Given the description of an element on the screen output the (x, y) to click on. 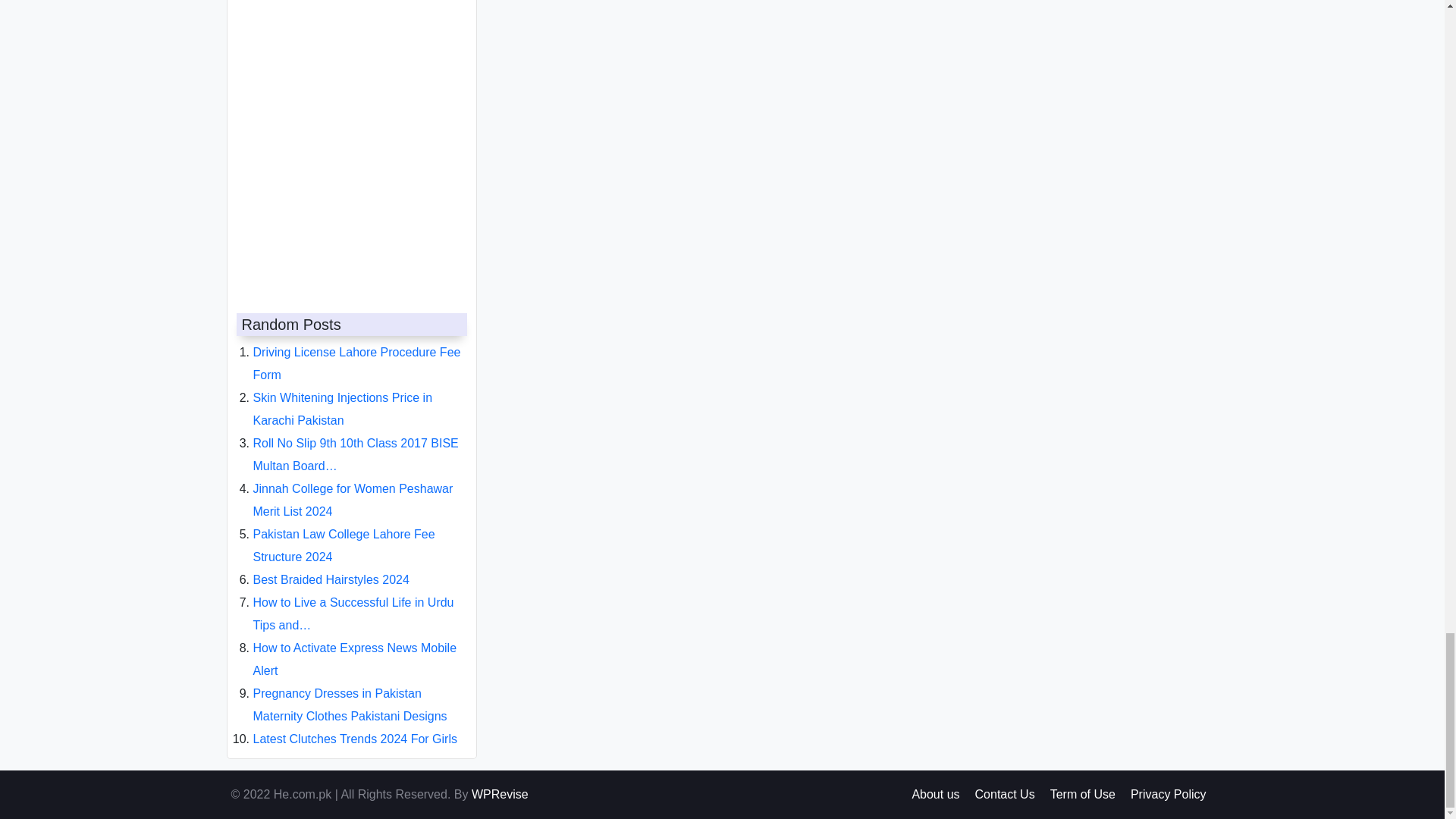
Jinnah College for Women Peshawar Merit List 2024 (352, 488)
How to Activate Express News Mobile Alert (355, 647)
Driving License Lahore Procedure Fee Form (357, 351)
Pakistan Law College Lahore Fee Structure 2024 (344, 533)
Best Braided Hairstyles 2024 (331, 567)
Skin Whitening Injections Price in Karachi Pakistan (342, 396)
